Given the description of an element on the screen output the (x, y) to click on. 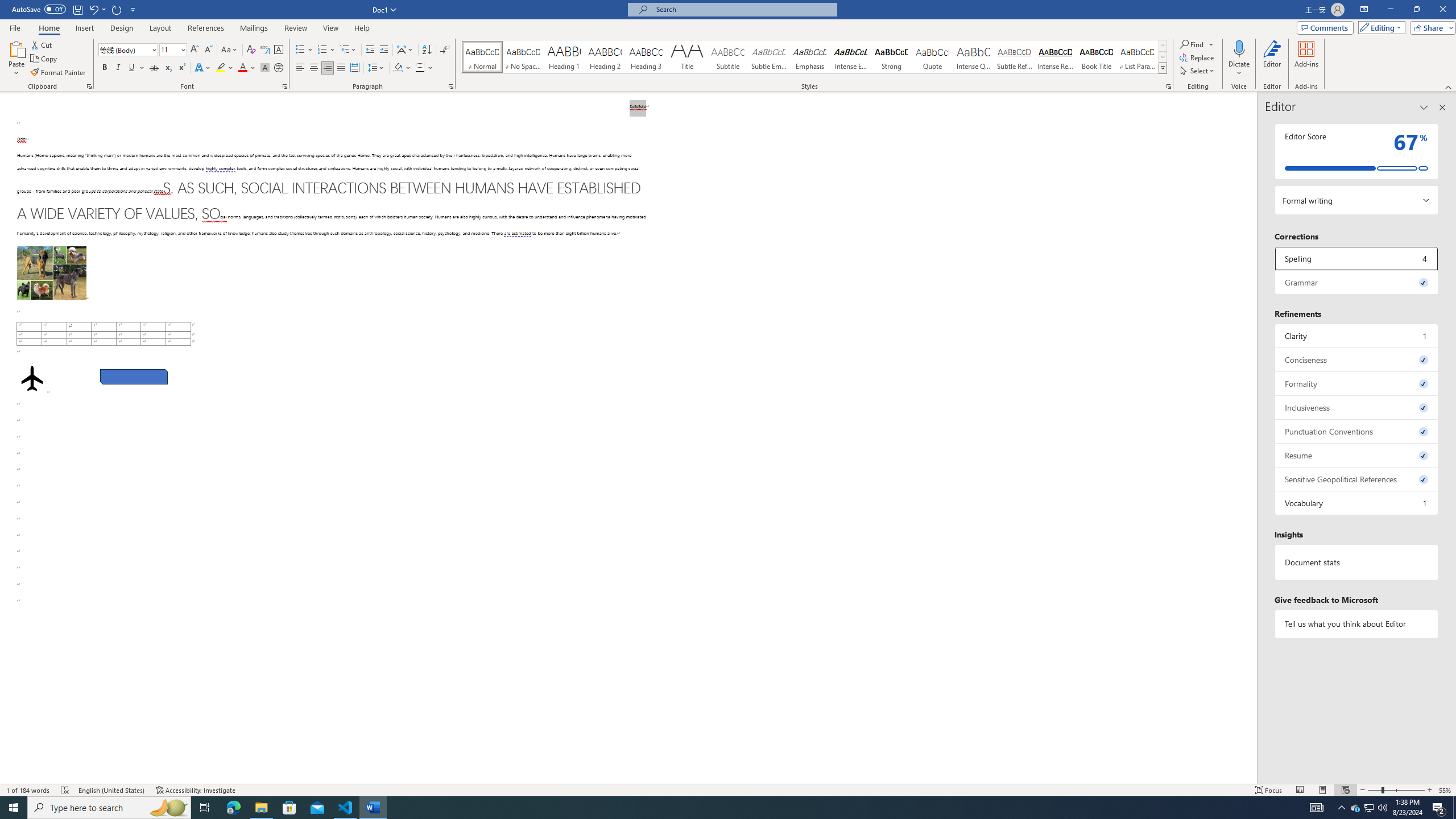
Intense Emphasis (849, 56)
Heading 3 (646, 56)
Spelling, 4 issues. Press space or enter to review items. (1356, 258)
Tell us what you think about Editor (1356, 624)
